Given the description of an element on the screen output the (x, y) to click on. 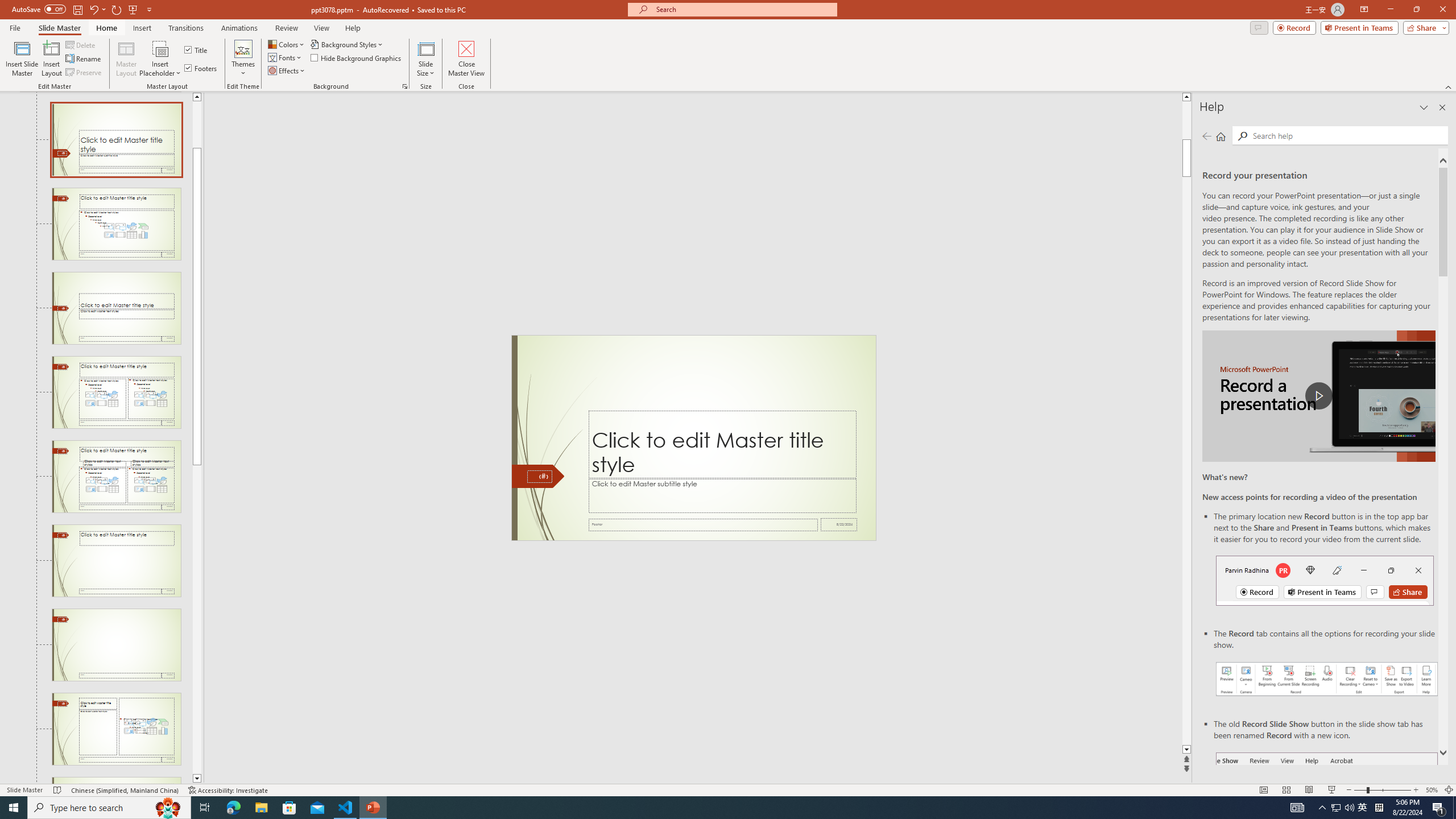
Colors (287, 44)
Title TextBox (722, 444)
Footers (201, 67)
Insert Layout (51, 58)
